Given the description of an element on the screen output the (x, y) to click on. 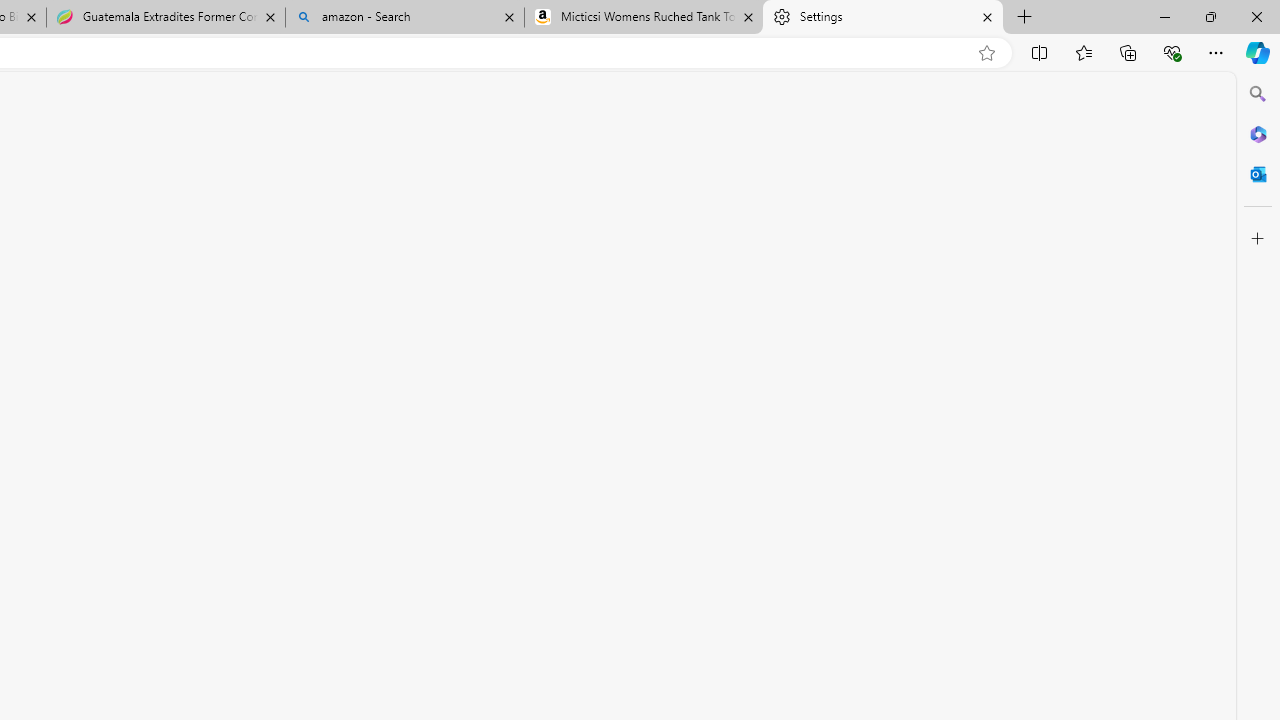
amazon - Search (404, 17)
